Given the description of an element on the screen output the (x, y) to click on. 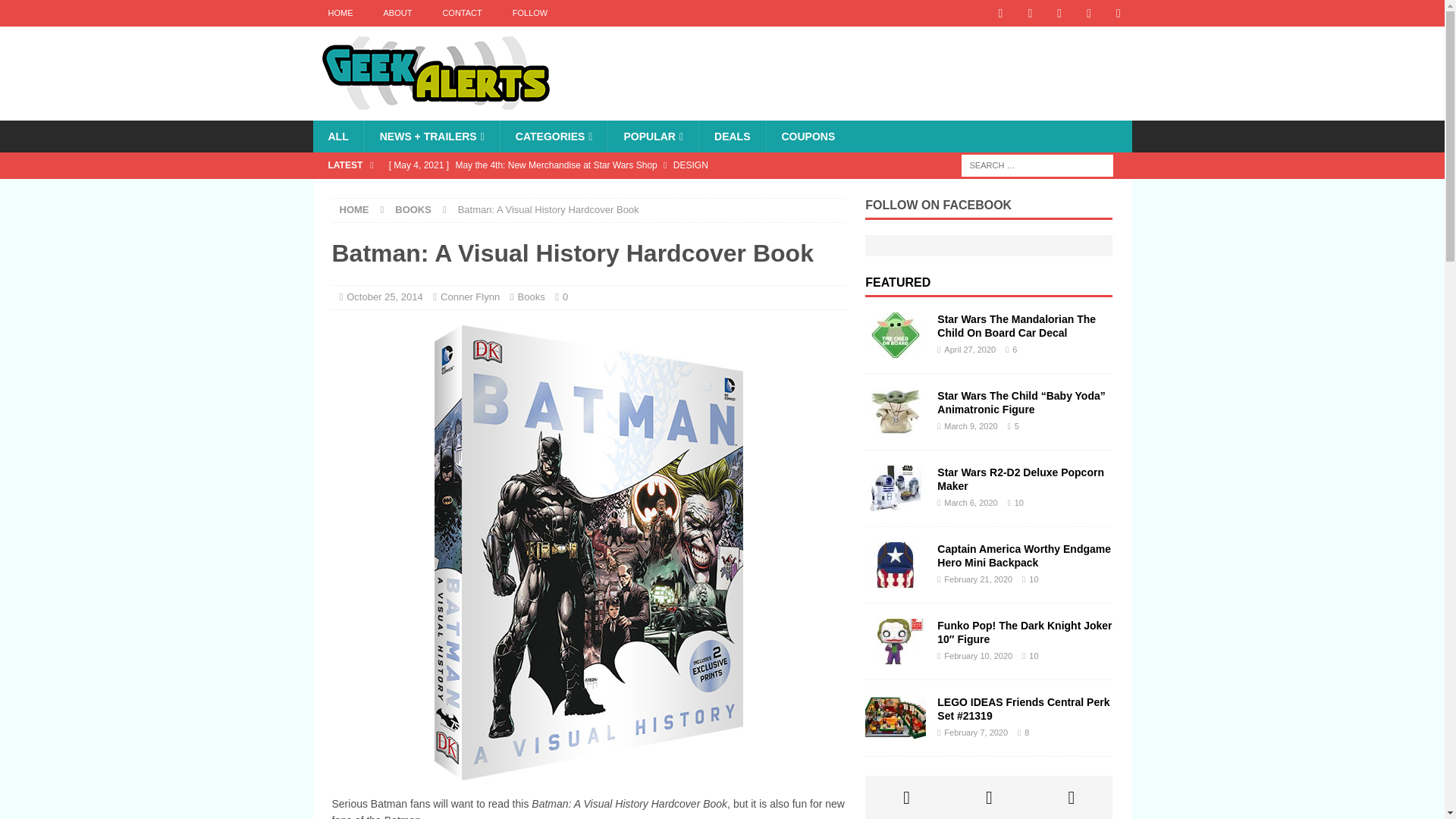
POPULAR (652, 136)
COUPONS (807, 136)
HOME (354, 209)
ABOUT (398, 13)
Search (56, 11)
CATEGORIES (553, 136)
May the 4th: New Merchandise at Star Wars Shop (612, 165)
DEALS (731, 136)
ALL (337, 136)
FOLLOW (529, 13)
